Given the description of an element on the screen output the (x, y) to click on. 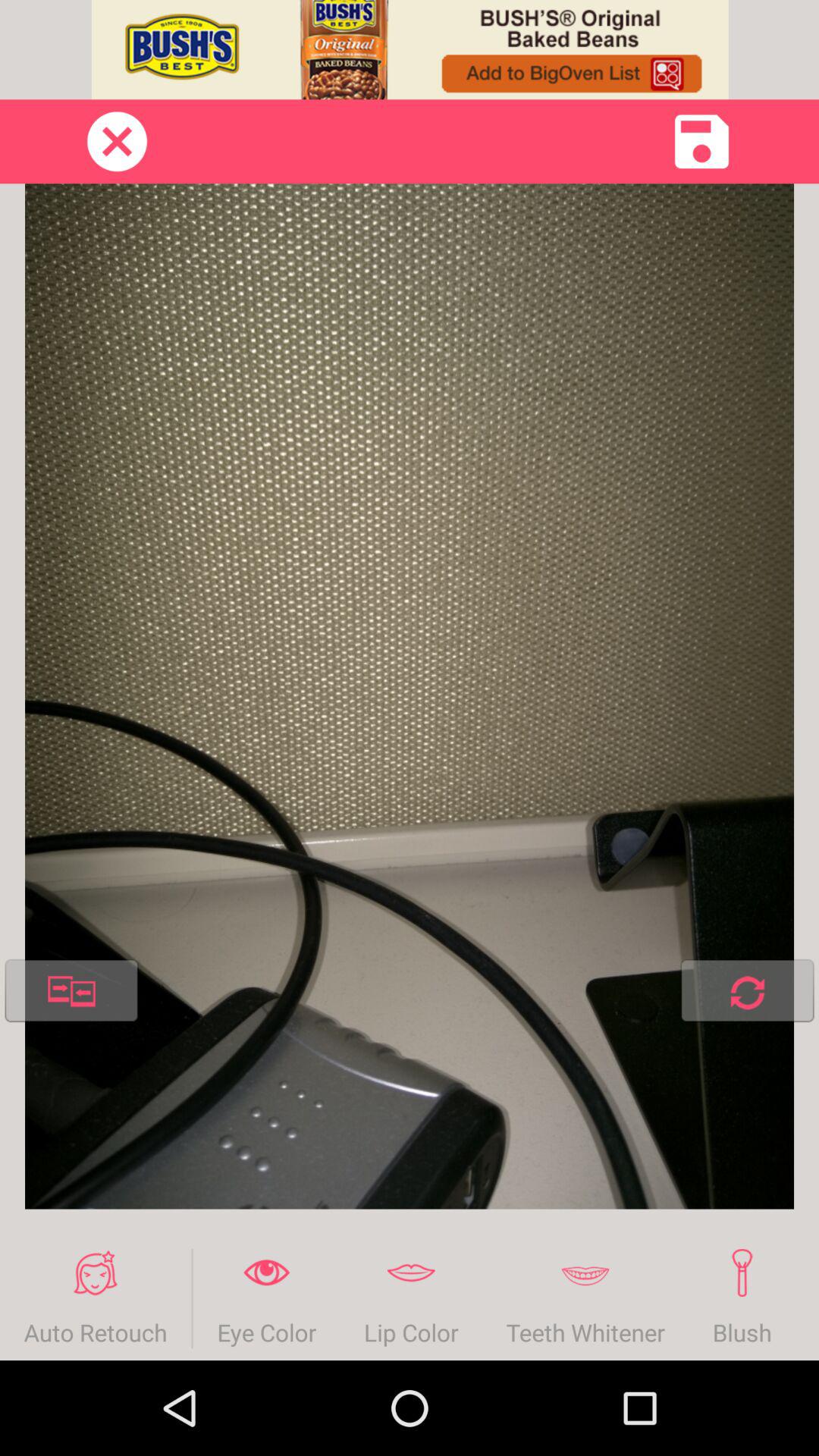
jump until blush icon (741, 1298)
